Given the description of an element on the screen output the (x, y) to click on. 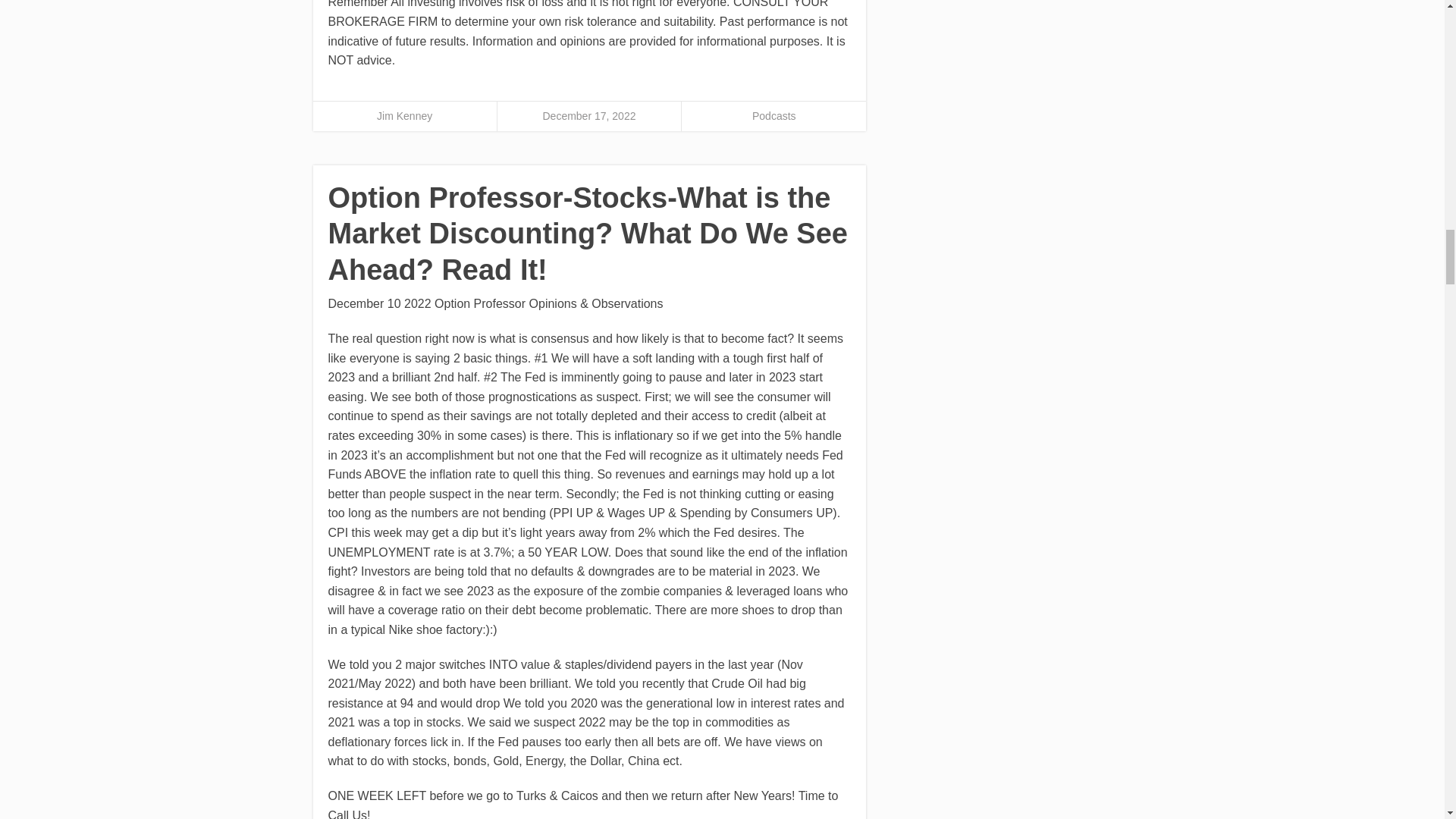
Jim Kenney (404, 115)
Podcasts (774, 115)
